Given the description of an element on the screen output the (x, y) to click on. 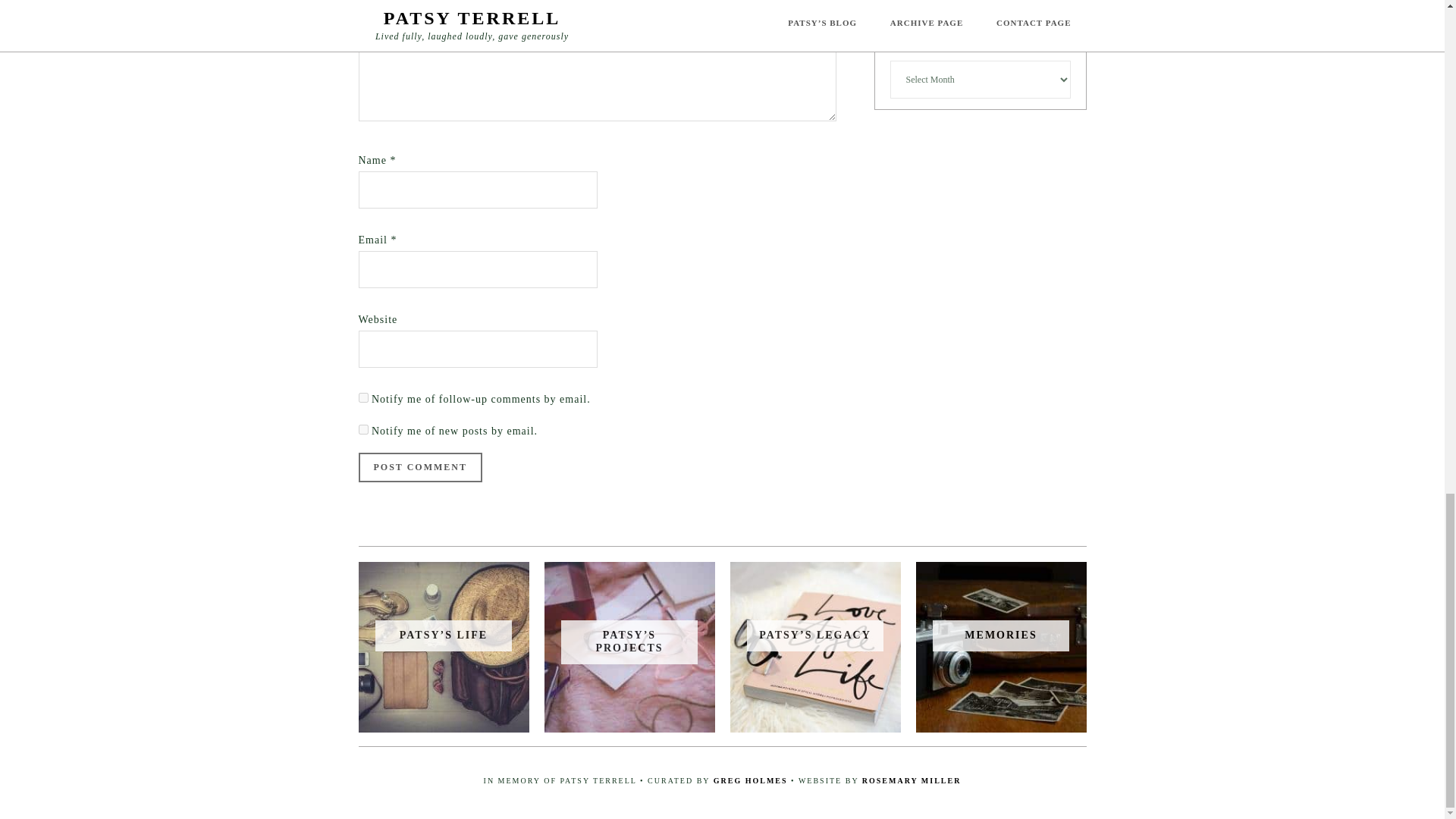
Post Comment (419, 467)
Post Comment (419, 467)
ROSEMARY MILLER (910, 780)
subscribe (363, 397)
GREG HOLMES (750, 780)
subscribe (363, 429)
MEMORIES (999, 634)
